Given the description of an element on the screen output the (x, y) to click on. 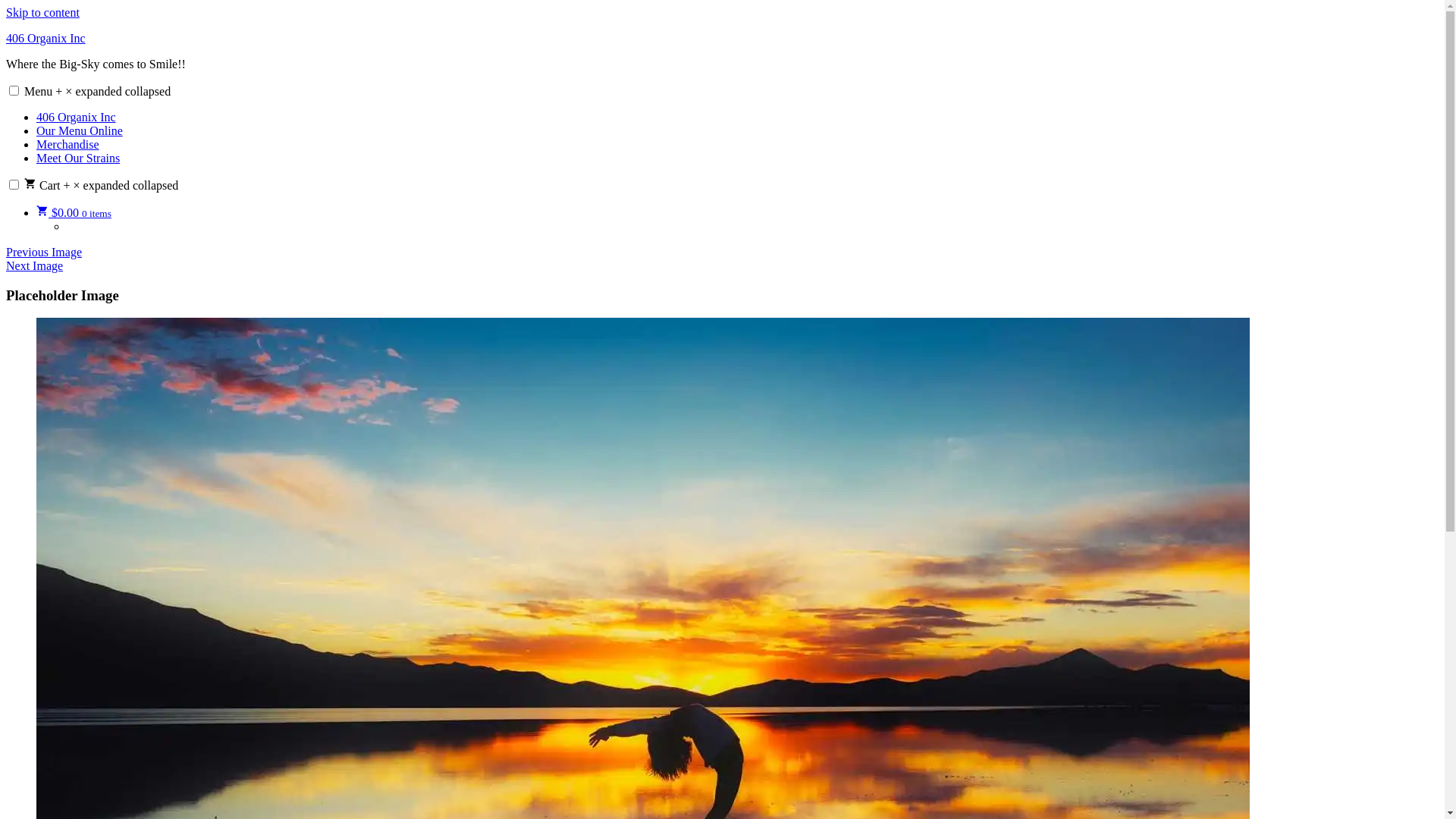
$0.00 0 items Element type: text (73, 212)
Previous Image Element type: text (43, 251)
Meet Our Strains Element type: text (77, 157)
406 Organix Inc Element type: text (45, 37)
Next Image Element type: text (34, 265)
View your shopping list Element type: hover (752, 226)
Our Menu Online Element type: text (79, 130)
Merchandise Element type: text (67, 144)
406 Organix Inc Element type: text (76, 116)
Skip to content Element type: text (42, 12)
